Given the description of an element on the screen output the (x, y) to click on. 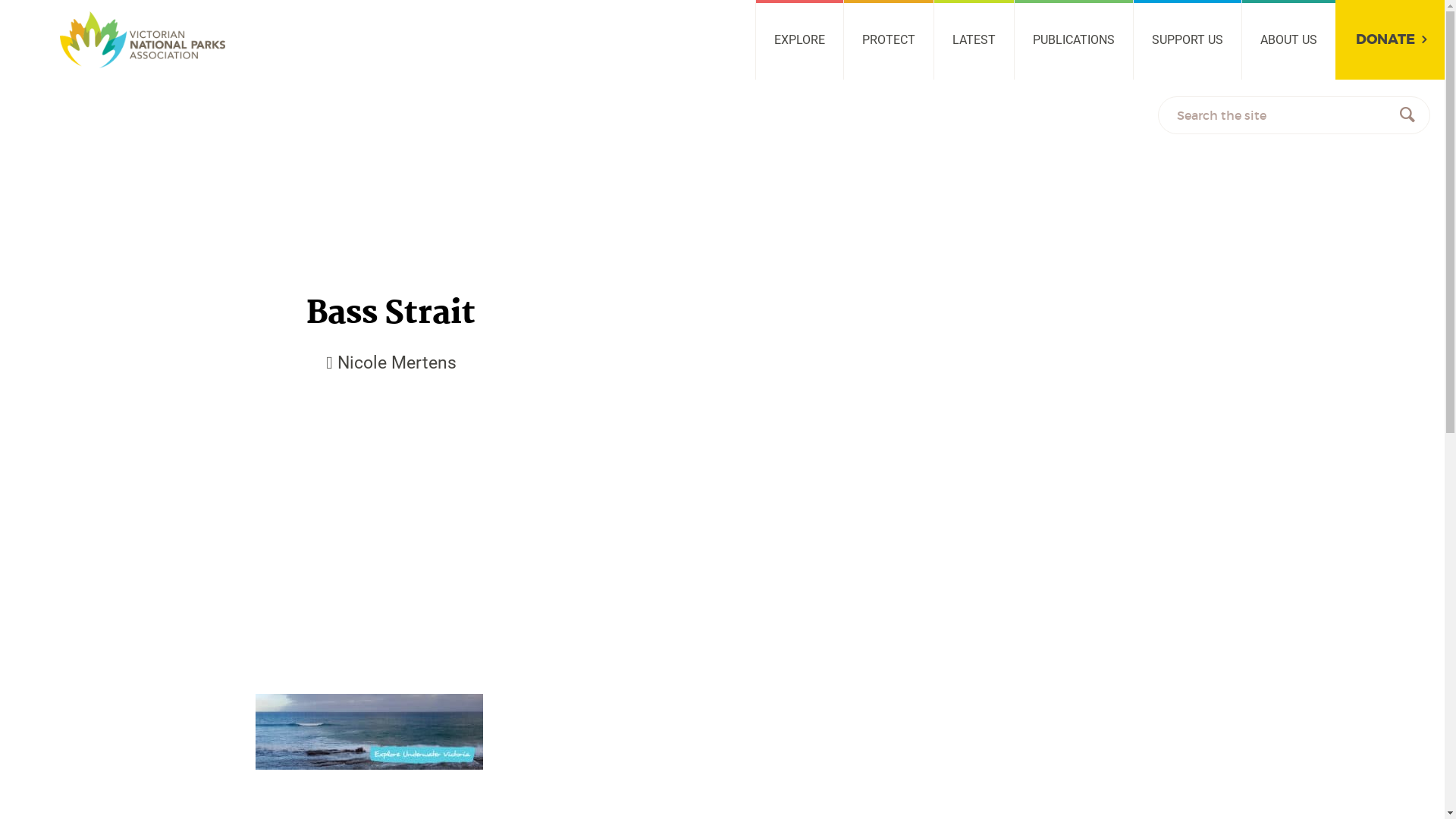
Search for: Element type: hover (1293, 114)
ABOUT US Element type: text (1288, 39)
Search Element type: text (1406, 114)
PROTECT Element type: text (888, 39)
LATEST Element type: text (973, 39)
EXPLORE Element type: text (799, 39)
DONATE Element type: text (1389, 39)
PUBLICATIONS Element type: text (1072, 39)
SUPPORT US Element type: text (1186, 39)
